Given the description of an element on the screen output the (x, y) to click on. 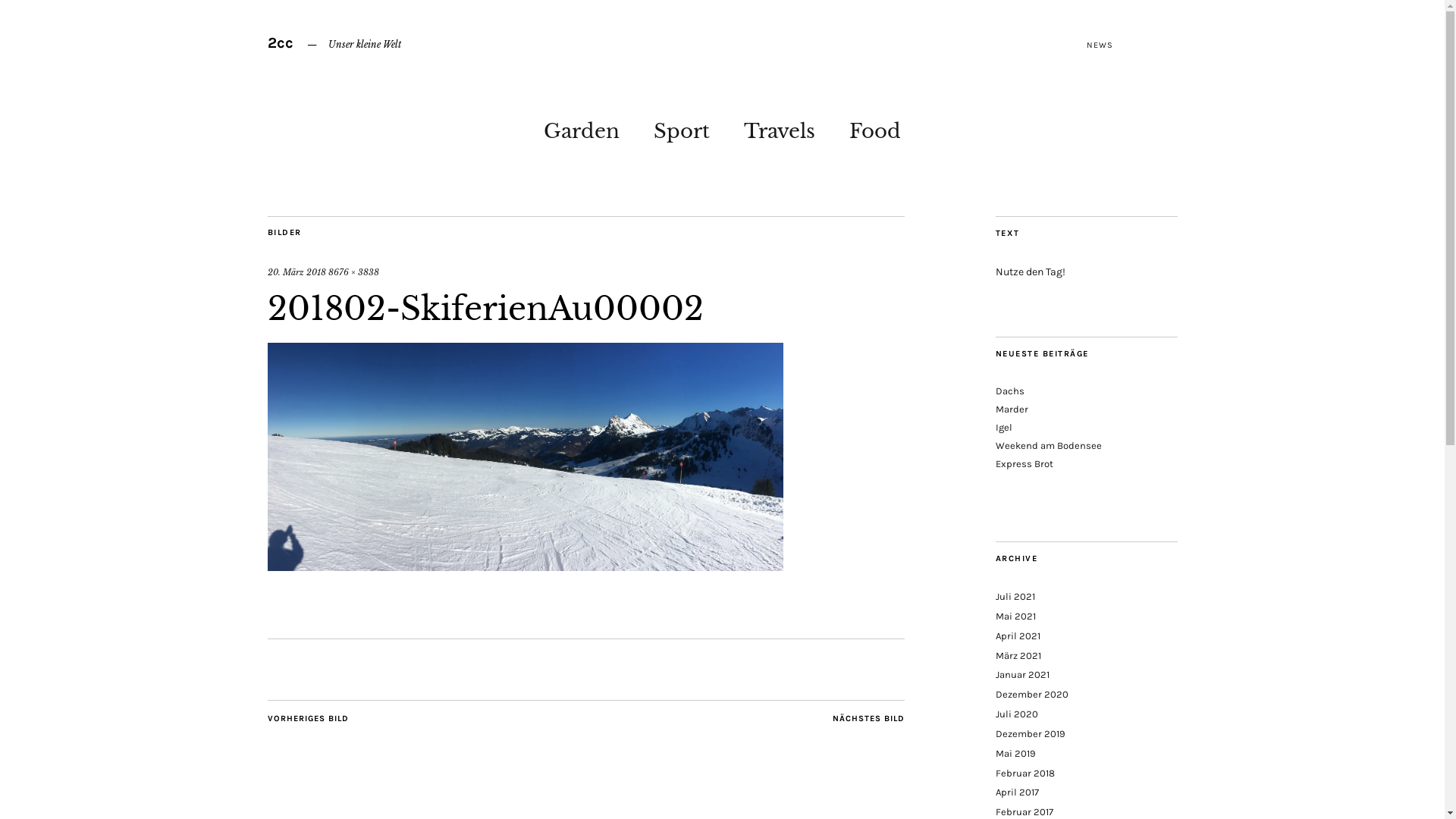
Dachs Element type: text (1008, 390)
Express Brot Element type: text (1023, 463)
Weekend am Bodensee Element type: text (1047, 445)
Igel Element type: text (1002, 427)
Sport Element type: text (681, 127)
NEWS Element type: text (1098, 45)
Mai 2019 Element type: text (1014, 753)
Februar 2018 Element type: text (1024, 772)
April 2017 Element type: text (1016, 791)
Februar 2017 Element type: text (1023, 811)
Mai 2021 Element type: text (1014, 615)
VORHERIGES BILD Element type: text (307, 720)
Juli 2020 Element type: text (1015, 713)
2cc Element type: text (279, 42)
Food Element type: text (874, 127)
Garden Element type: text (581, 127)
Marder Element type: text (1010, 408)
Dezember 2019 Element type: text (1029, 733)
Januar 2021 Element type: text (1021, 674)
Juli 2021 Element type: text (1014, 596)
Travels Element type: text (779, 127)
Dezember 2020 Element type: text (1030, 693)
April 2021 Element type: text (1016, 635)
201802-SkiferienAu00002 Element type: hover (524, 566)
